Given the description of an element on the screen output the (x, y) to click on. 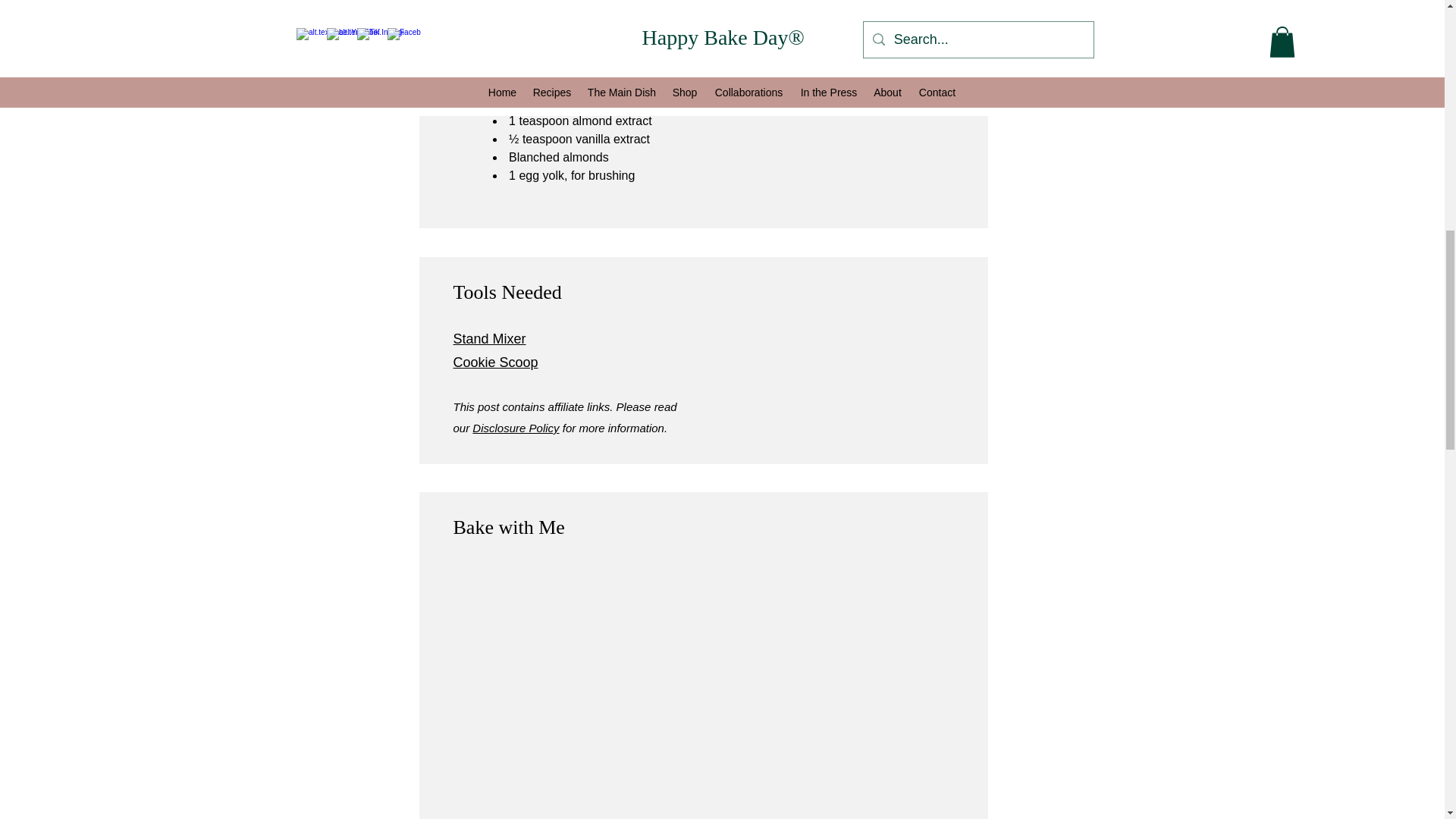
Disclosure Policy (515, 427)
Stand Mixer (488, 338)
Cookie Scoop (495, 362)
